Given the description of an element on the screen output the (x, y) to click on. 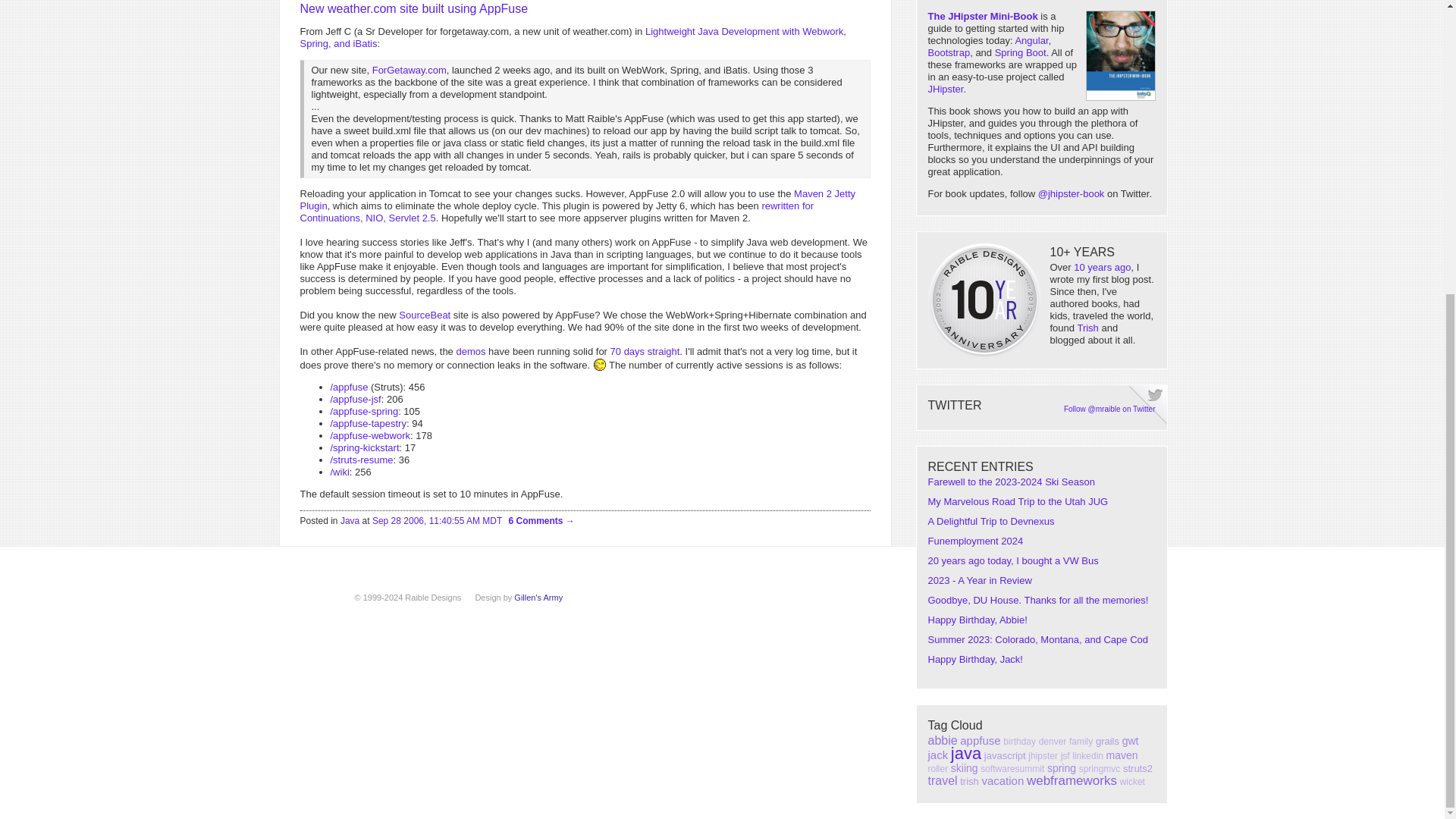
JHipster (945, 89)
28 entries (1080, 741)
Farewell to the 2023-2024 Ski Season (1011, 481)
Spring Boot (1020, 52)
52 entries (1130, 740)
Angular (1031, 40)
The JHipster Mini-Book (983, 16)
My Marvelous Road Trip to the Utah JUG (1018, 501)
Bootstrap (949, 52)
40 entries (1107, 740)
Trish (1087, 327)
32 entries (1053, 741)
10 years ago (1102, 266)
67 entries (943, 739)
30 entries (1019, 741)
